Given the description of an element on the screen output the (x, y) to click on. 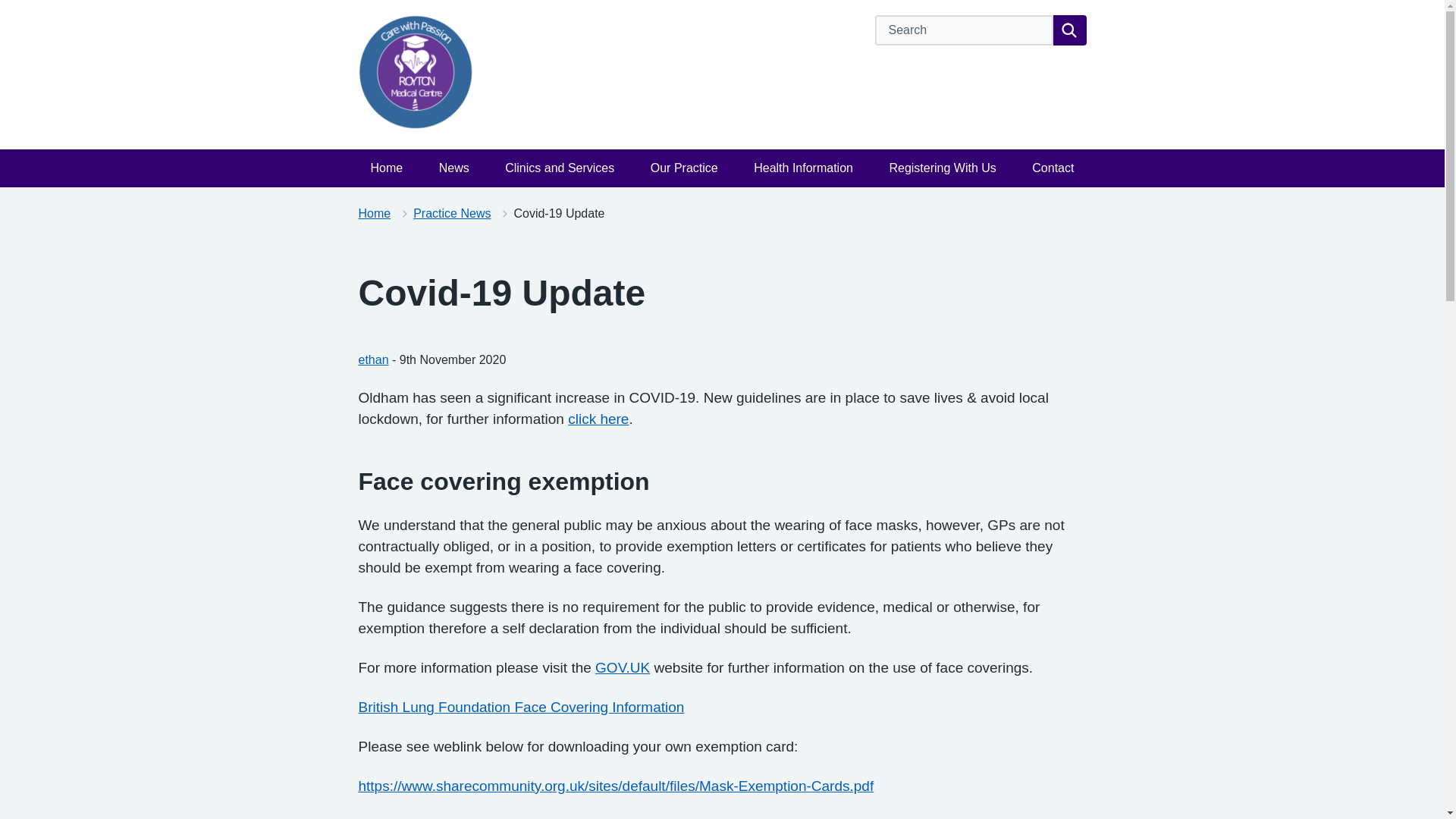
Contact (1053, 168)
Search (1069, 30)
Registering With Us (941, 168)
GOV.UK (622, 667)
Our Practice (684, 168)
Home (386, 168)
Clinics and Services (559, 168)
Home (374, 213)
British Lung Foundation Face Covering Information (521, 706)
News (453, 168)
